Given the description of an element on the screen output the (x, y) to click on. 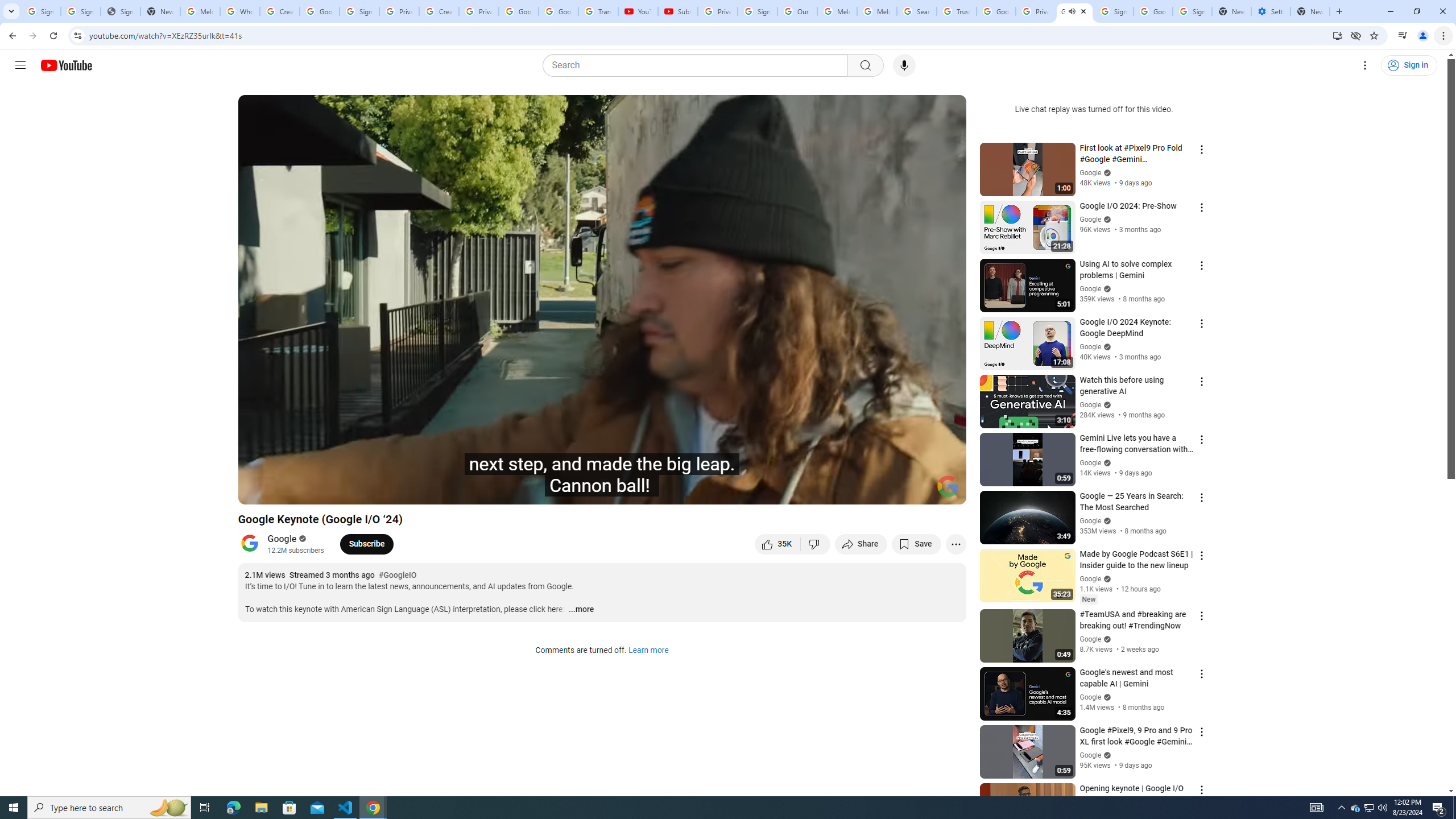
Search with your voice (903, 65)
New Tab (1310, 11)
Guide (20, 65)
Who is my administrator? - Google Account Help (239, 11)
Dislike this video (815, 543)
Learn more (647, 650)
Seek slider (601, 476)
Theater mode (t) (917, 490)
